Given the description of an element on the screen output the (x, y) to click on. 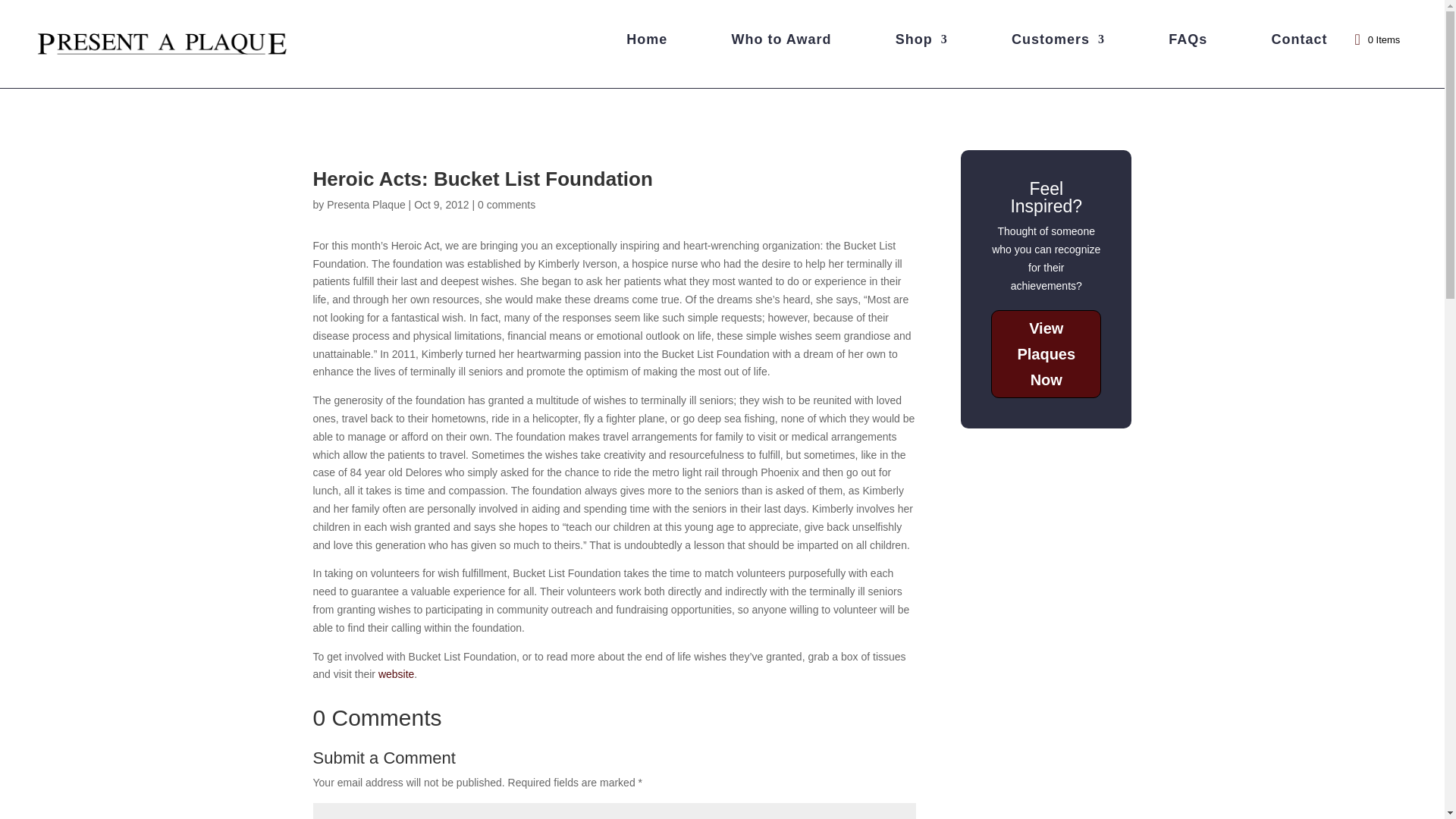
Shop (921, 42)
FAQs (1188, 42)
Posts by Presenta Plaque (366, 204)
website (395, 674)
Contact (1298, 42)
0 comments (506, 204)
Presenta Plaque (366, 204)
Customers (1058, 42)
Bucket List Foundation (395, 674)
0 Items (1376, 38)
